Given the description of an element on the screen output the (x, y) to click on. 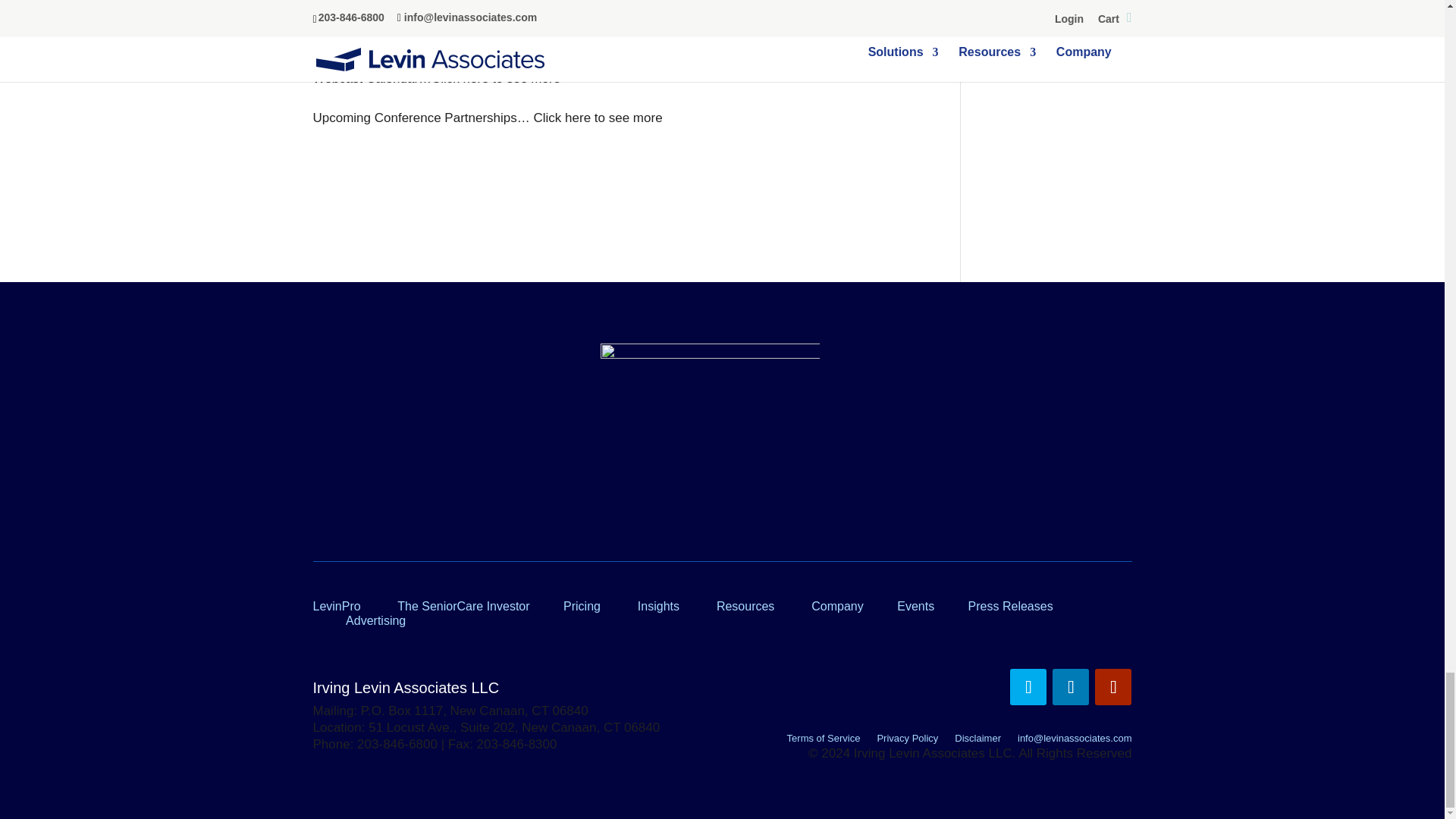
Privacy Policy (906, 740)
Advertising (376, 620)
Follow on Youtube (1112, 687)
Company (836, 605)
Resources (745, 605)
Follow on Twitter (1028, 687)
Press Releases (1010, 605)
Insights (658, 605)
Follow on LinkedIn (1070, 687)
Events (915, 605)
Terms of Service (823, 740)
LevinPro (336, 605)
The SeniorCare Investor (463, 605)
Disclaimer (978, 740)
Pricing (581, 605)
